Given the description of an element on the screen output the (x, y) to click on. 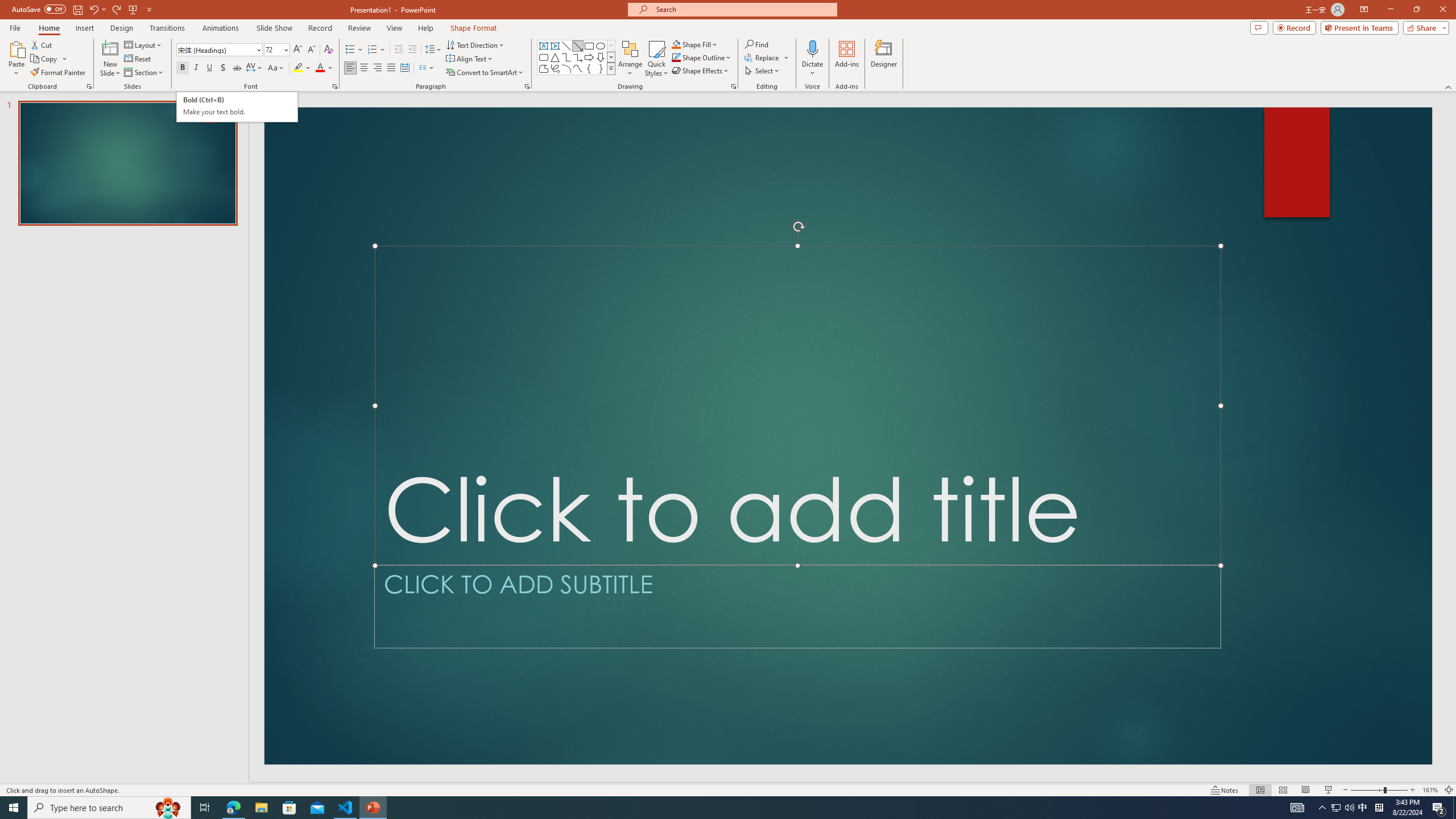
New Slide (110, 58)
Arrow: Right (589, 57)
Freeform: Scribble (554, 68)
Shapes (611, 68)
Freeform: Shape (543, 68)
Text Highlight Color (302, 67)
